Given the description of an element on the screen output the (x, y) to click on. 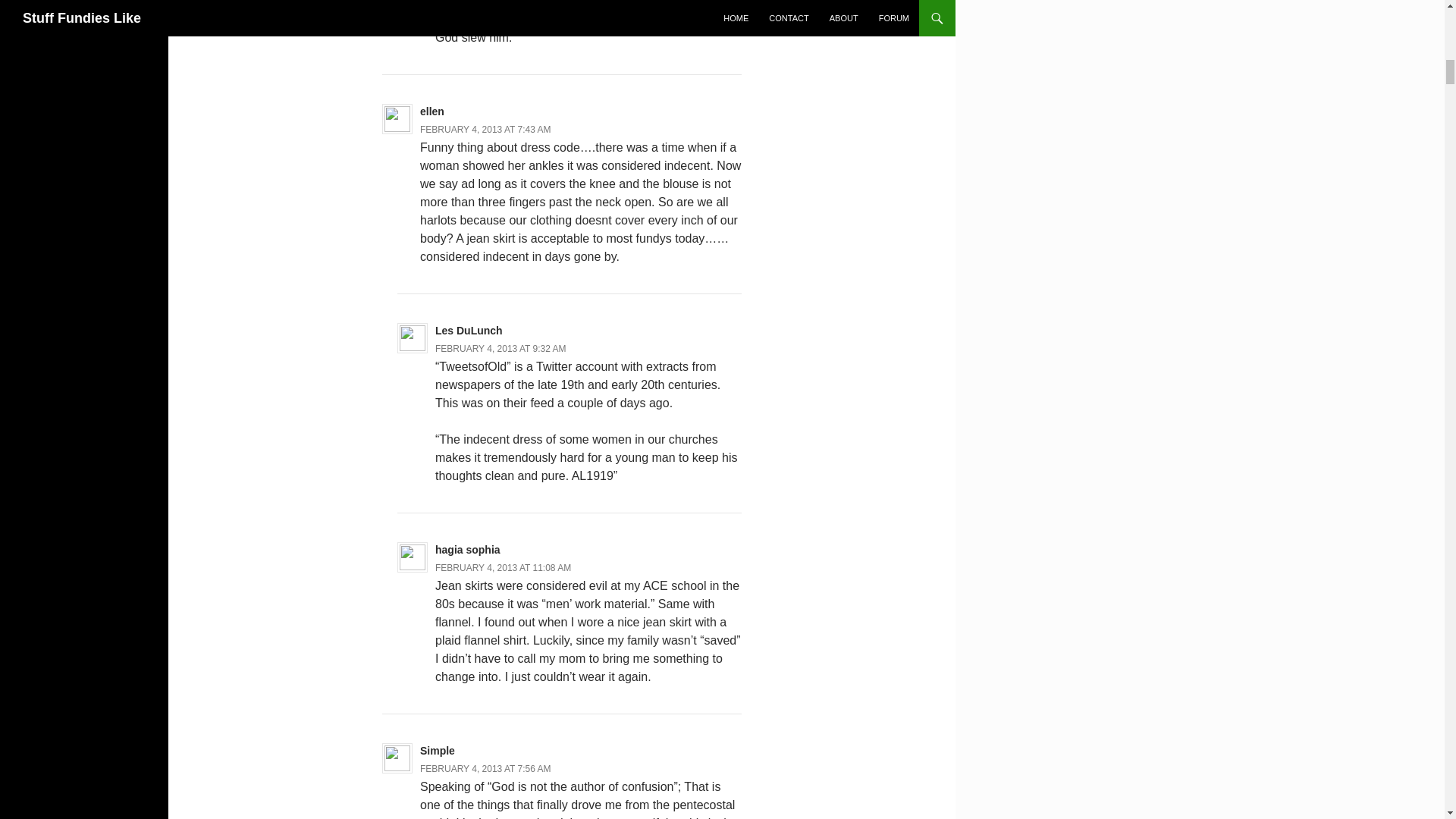
FEBRUARY 4, 2013 AT 7:43 AM (485, 129)
FEBRUARY 4, 2013 AT 9:32 AM (500, 348)
FEBRUARY 4, 2013 AT 7:56 AM (485, 768)
FEBRUARY 4, 2013 AT 11:08 AM (502, 567)
